Given the description of an element on the screen output the (x, y) to click on. 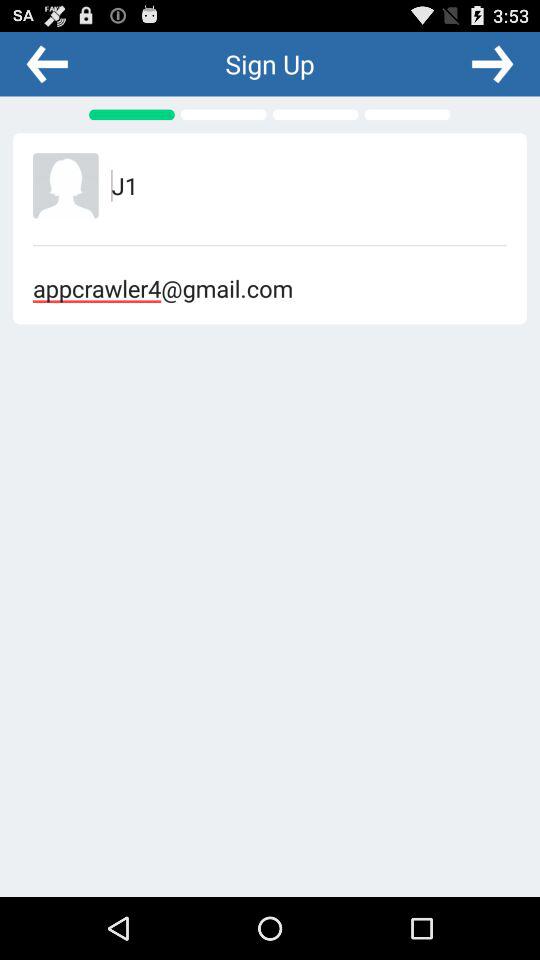
next (492, 63)
